Given the description of an element on the screen output the (x, y) to click on. 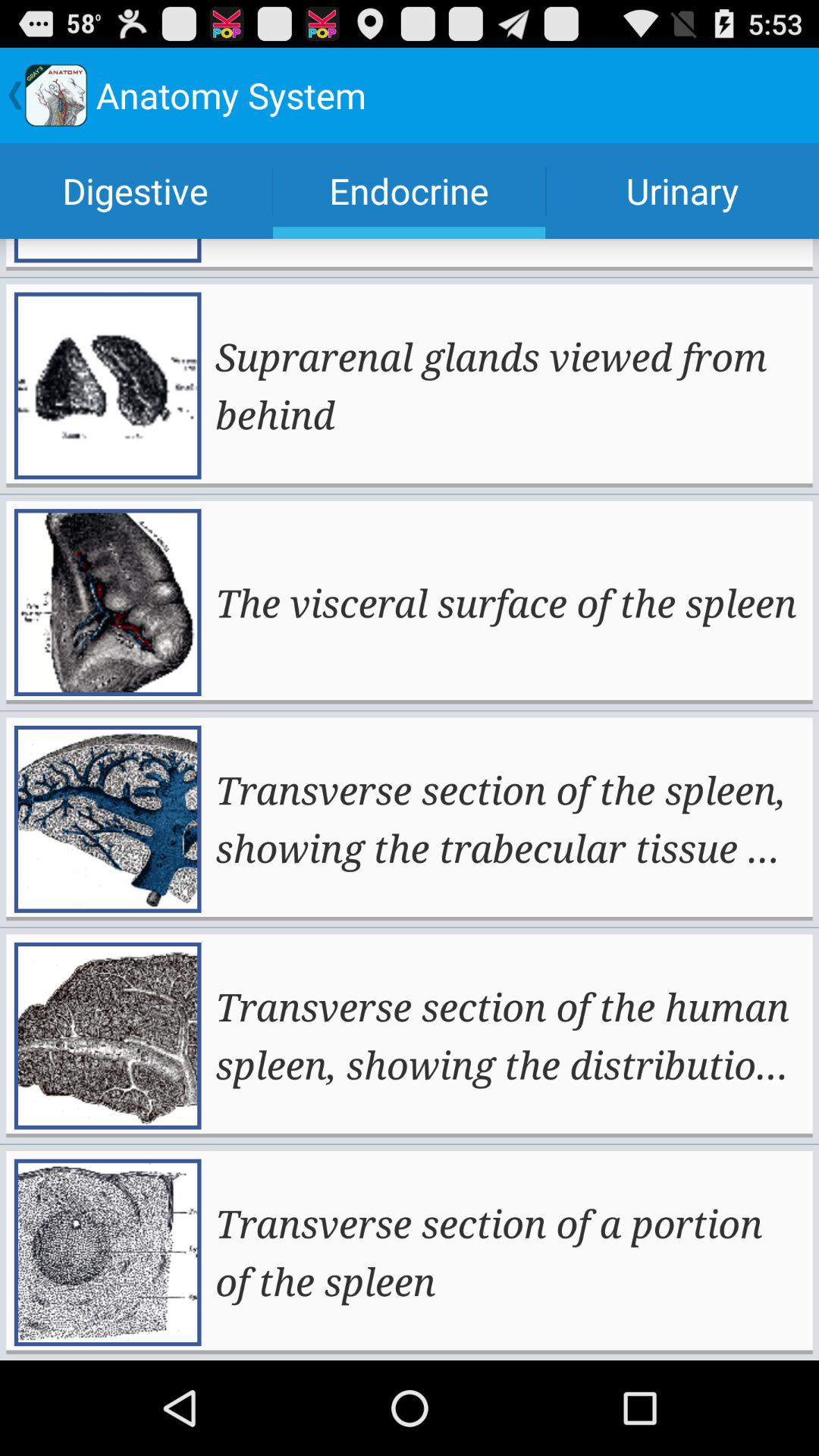
tap the app above the transverse section of app (505, 602)
